Given the description of an element on the screen output the (x, y) to click on. 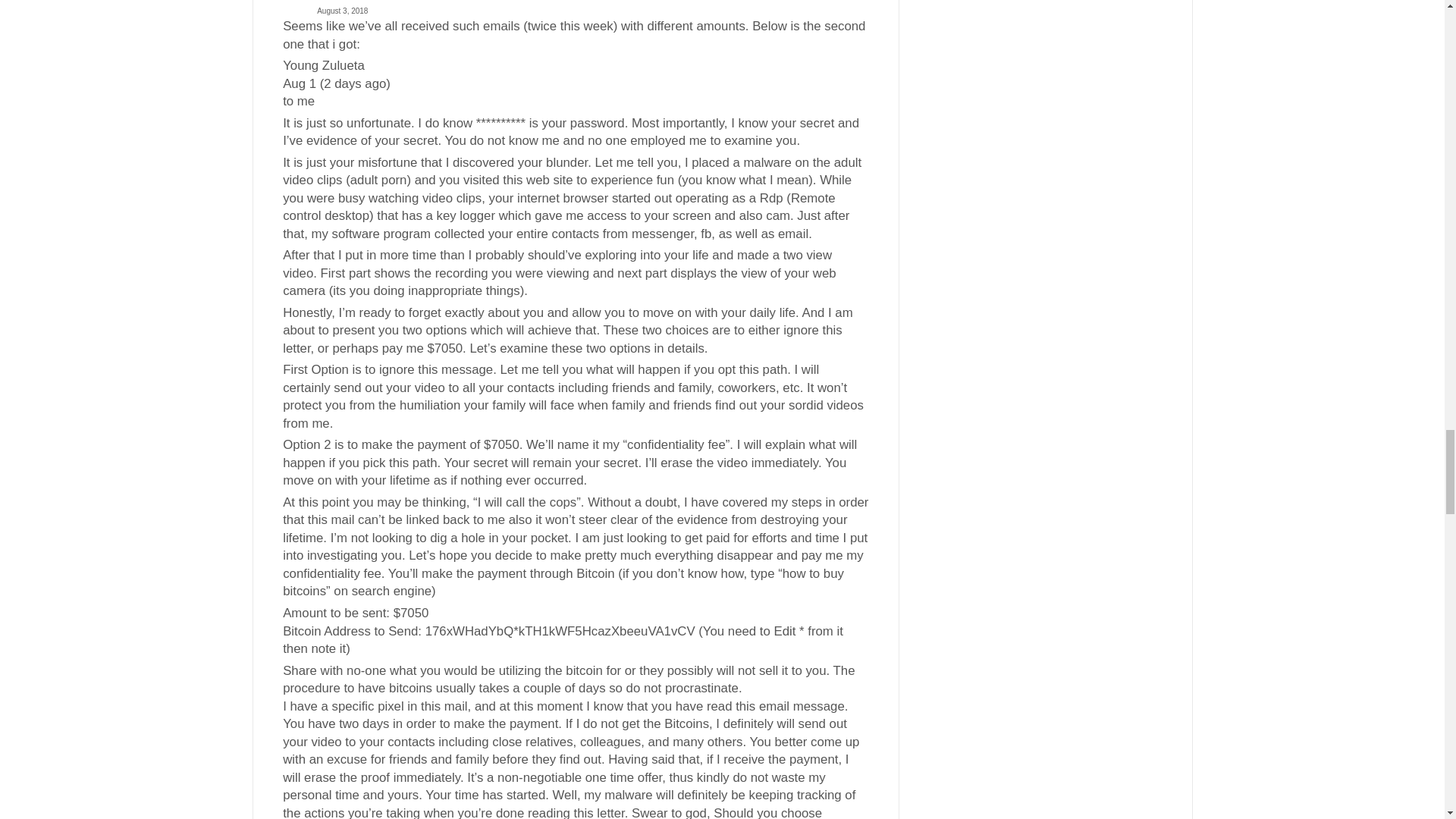
August 3, 2018 (574, 10)
